Given the description of an element on the screen output the (x, y) to click on. 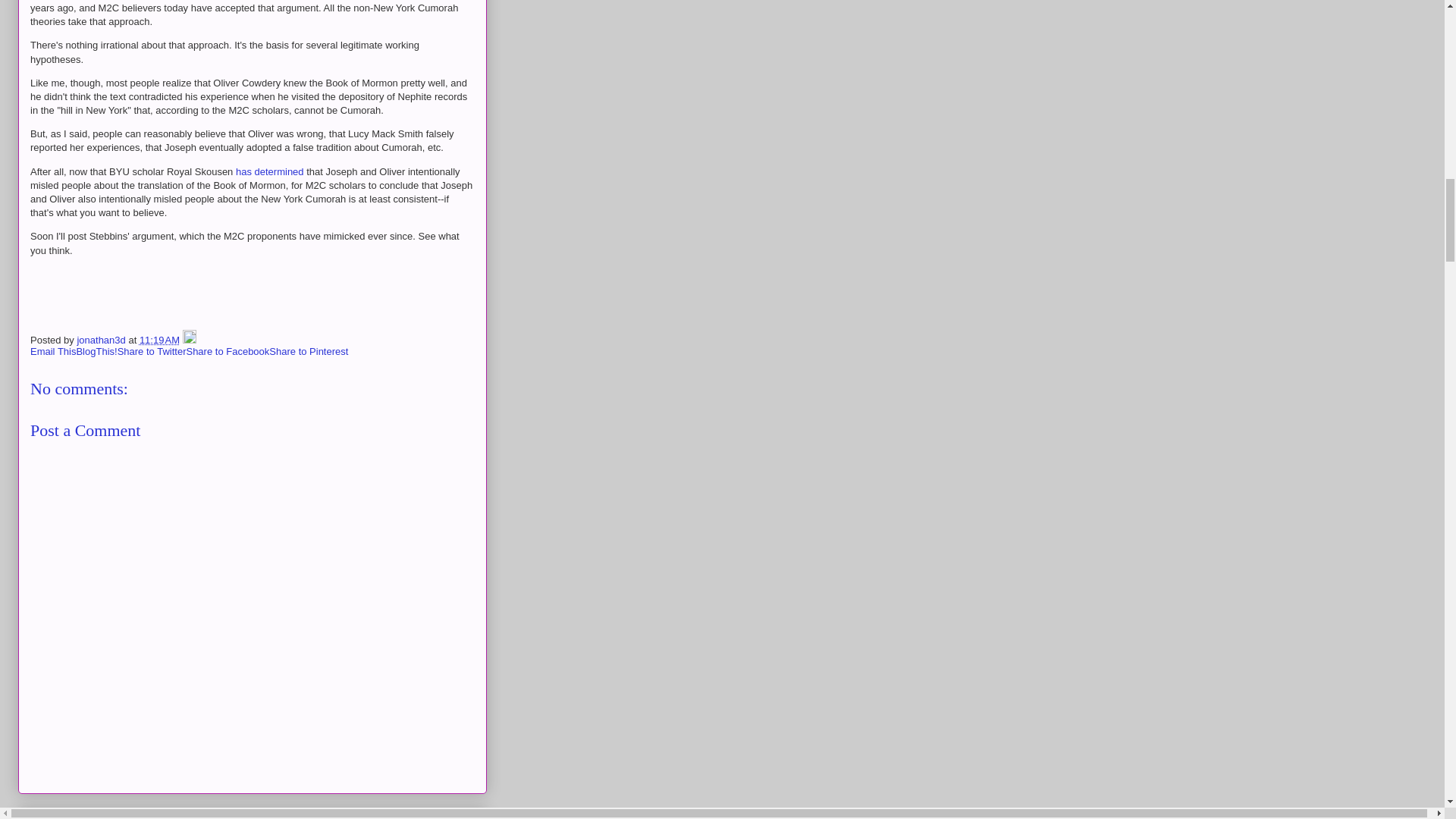
BlogThis! (95, 351)
Share to Pinterest (308, 351)
Email This (52, 351)
BlogThis! (95, 351)
Share to Pinterest (308, 351)
jonathan3d (102, 339)
Edit Post (189, 339)
Share to Facebook (227, 351)
Email This (52, 351)
Share to Twitter (151, 351)
Share to Facebook (227, 351)
permanent link (159, 339)
Share to Twitter (151, 351)
has determined (269, 171)
